Given the description of an element on the screen output the (x, y) to click on. 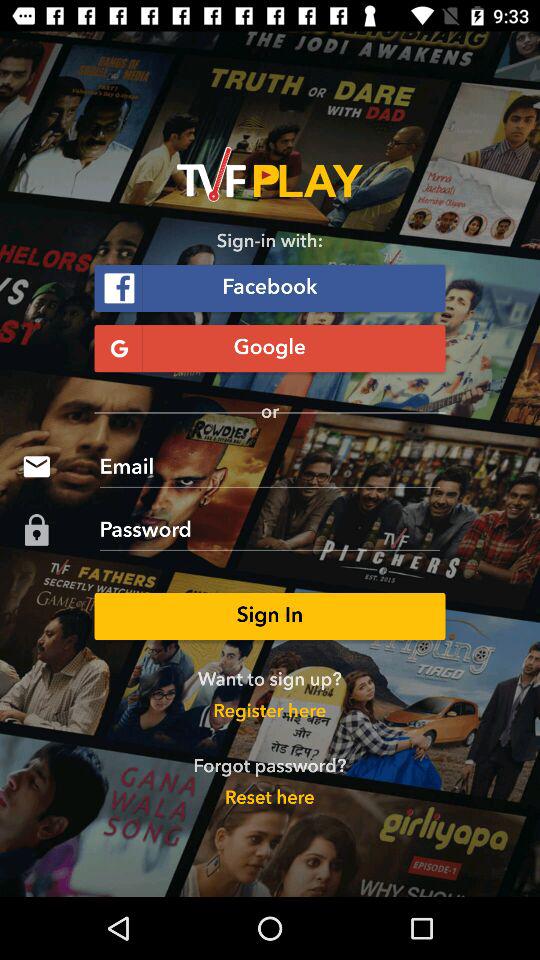
click the icon below the want to sign (269, 711)
